Given the description of an element on the screen output the (x, y) to click on. 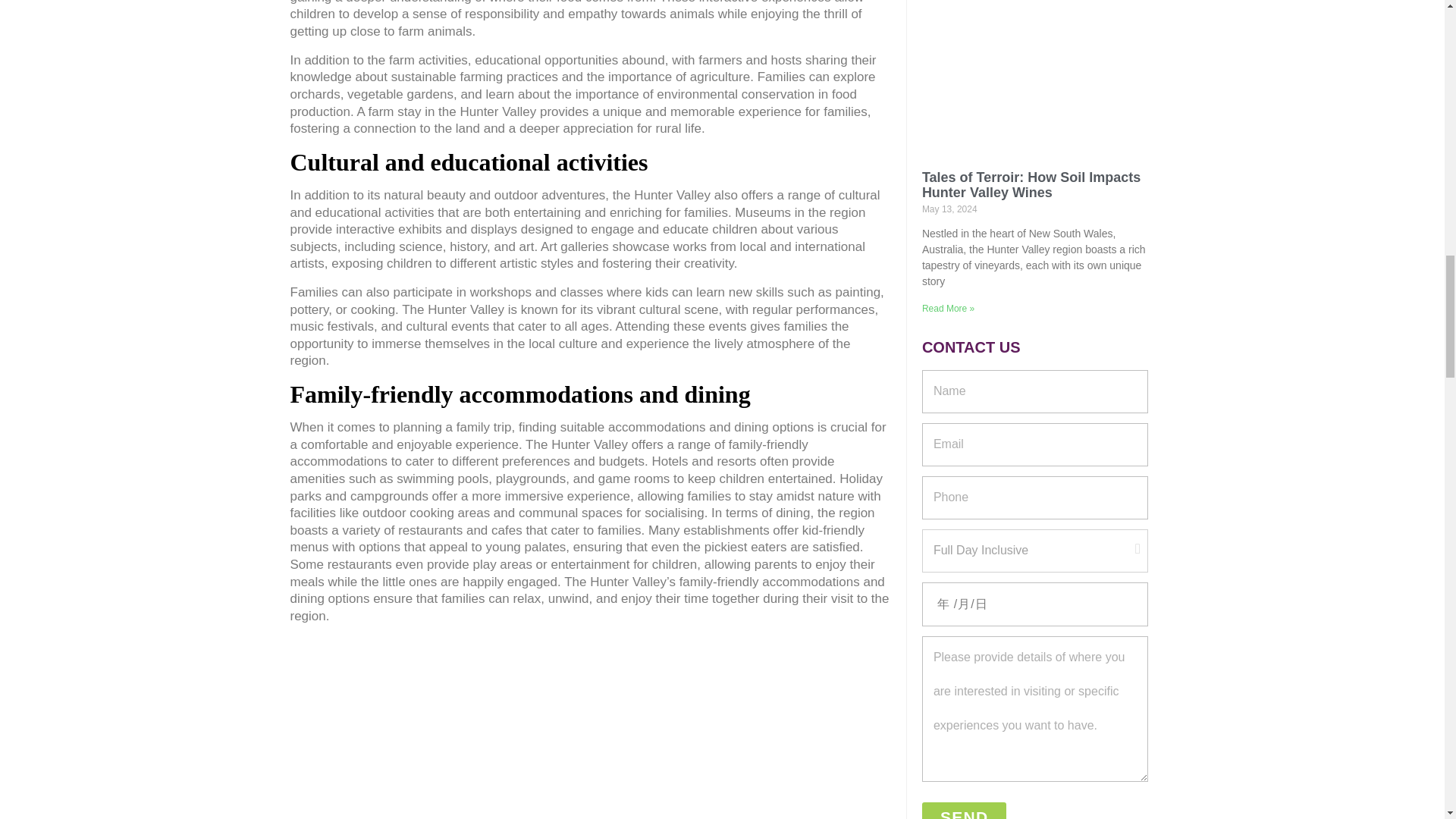
Tips for planning a family trip to the Hunter Valley (589, 731)
